Given the description of an element on the screen output the (x, y) to click on. 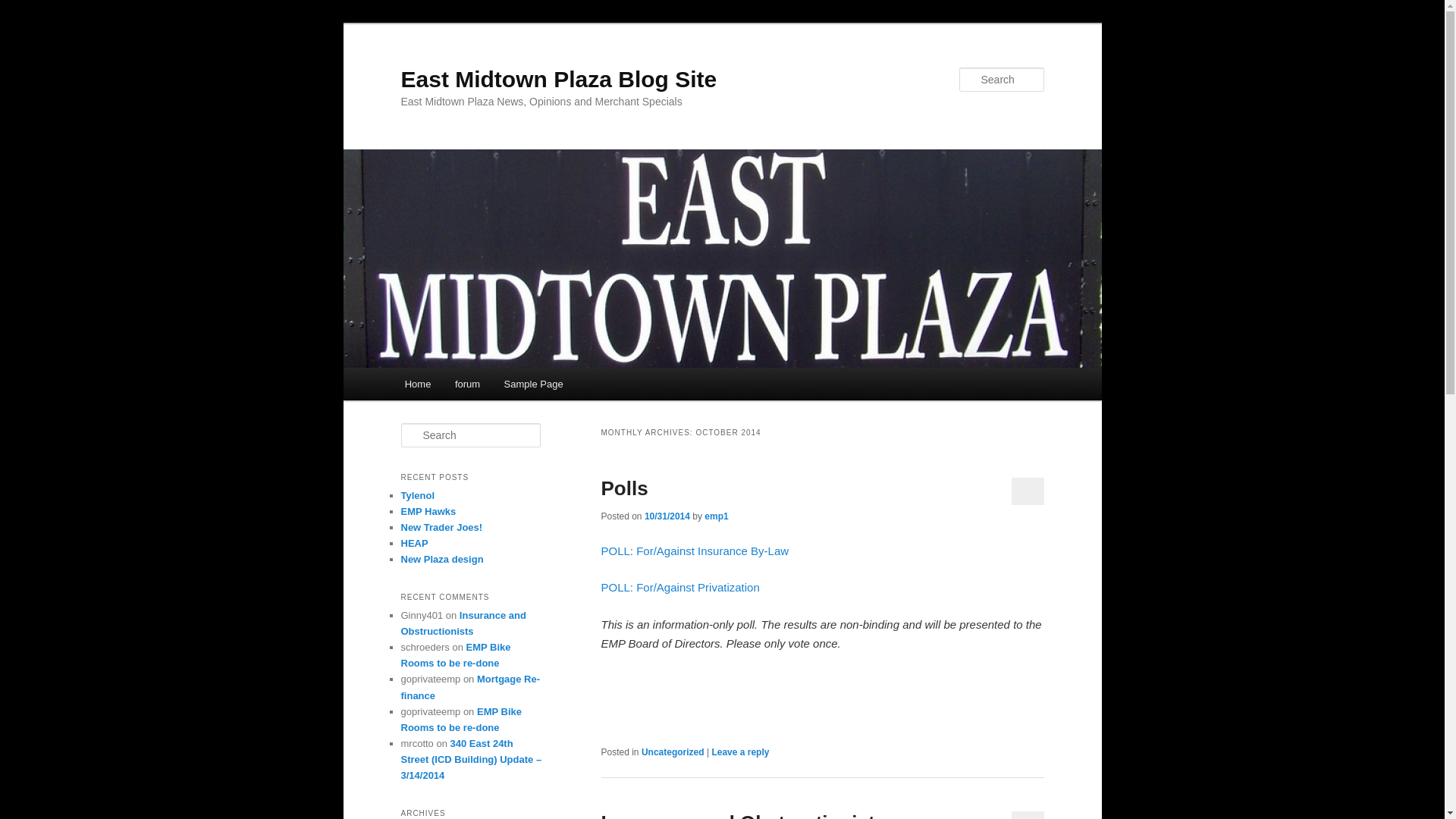
emp1 (716, 516)
Search (24, 8)
New Trader Joes! (440, 527)
Uncategorized (673, 751)
Search (21, 11)
EMP Bike Rooms to be re-done (460, 719)
Insurance and Obstructionists (462, 623)
forum (467, 383)
9:42 am (667, 516)
EMP Hawks (427, 511)
